Given the description of an element on the screen output the (x, y) to click on. 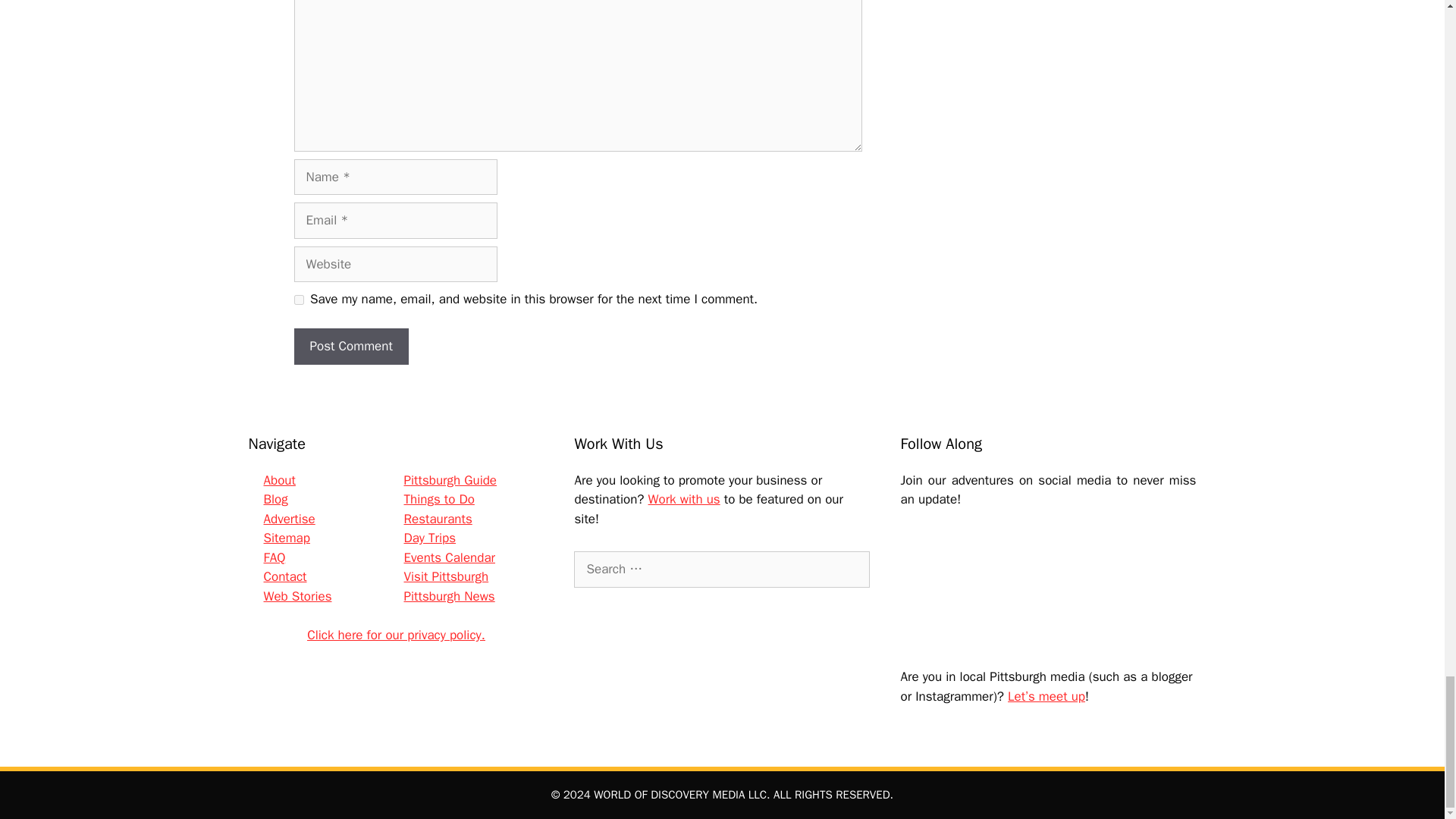
yes (299, 299)
Post Comment (351, 346)
